Given the description of an element on the screen output the (x, y) to click on. 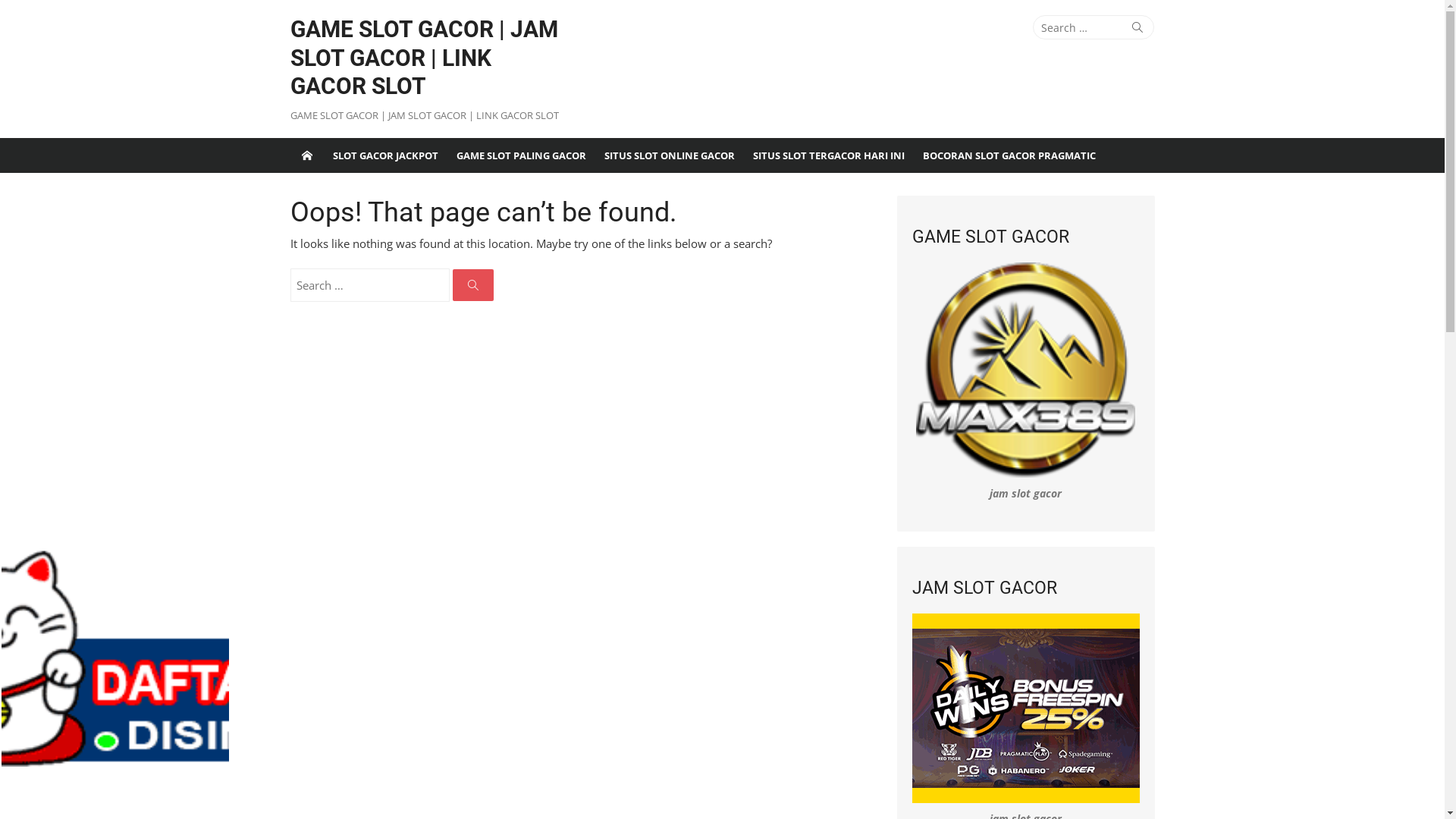
GAME SLOT PALING GACOR Element type: text (521, 155)
SITUS SLOT TERGACOR HARI INI Element type: text (828, 155)
jam slot gacor Element type: text (1025, 493)
Search Element type: text (471, 285)
GAME SLOT GACOR | JAM SLOT GACOR | LINK GACOR SLOT Element type: hover (306, 155)
Search Element type: text (1137, 27)
SLOT GACOR JACKPOT Element type: text (384, 155)
BOCORAN SLOT GACOR PRAGMATIC Element type: text (1008, 155)
SITUS SLOT ONLINE GACOR Element type: text (668, 155)
GAME SLOT GACOR | JAM SLOT GACOR | LINK GACOR SLOT Element type: text (428, 57)
